Given the description of an element on the screen output the (x, y) to click on. 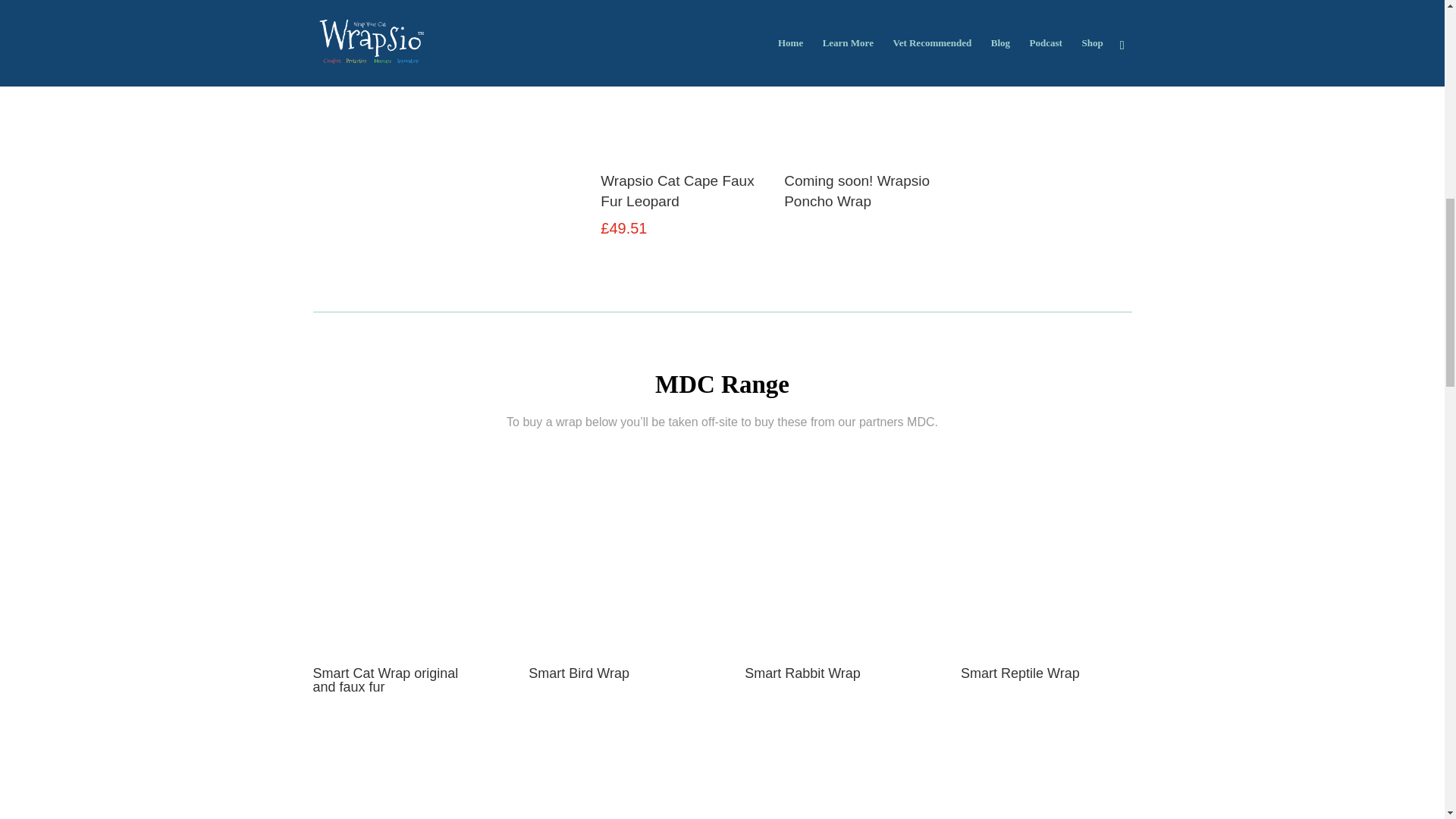
Smart Rabbit Wrap (802, 672)
Smart Bird Wrap (578, 672)
Smart Reptile Wrap (1020, 672)
Smart Cat Wrap original and faux fur (385, 679)
